Given the description of an element on the screen output the (x, y) to click on. 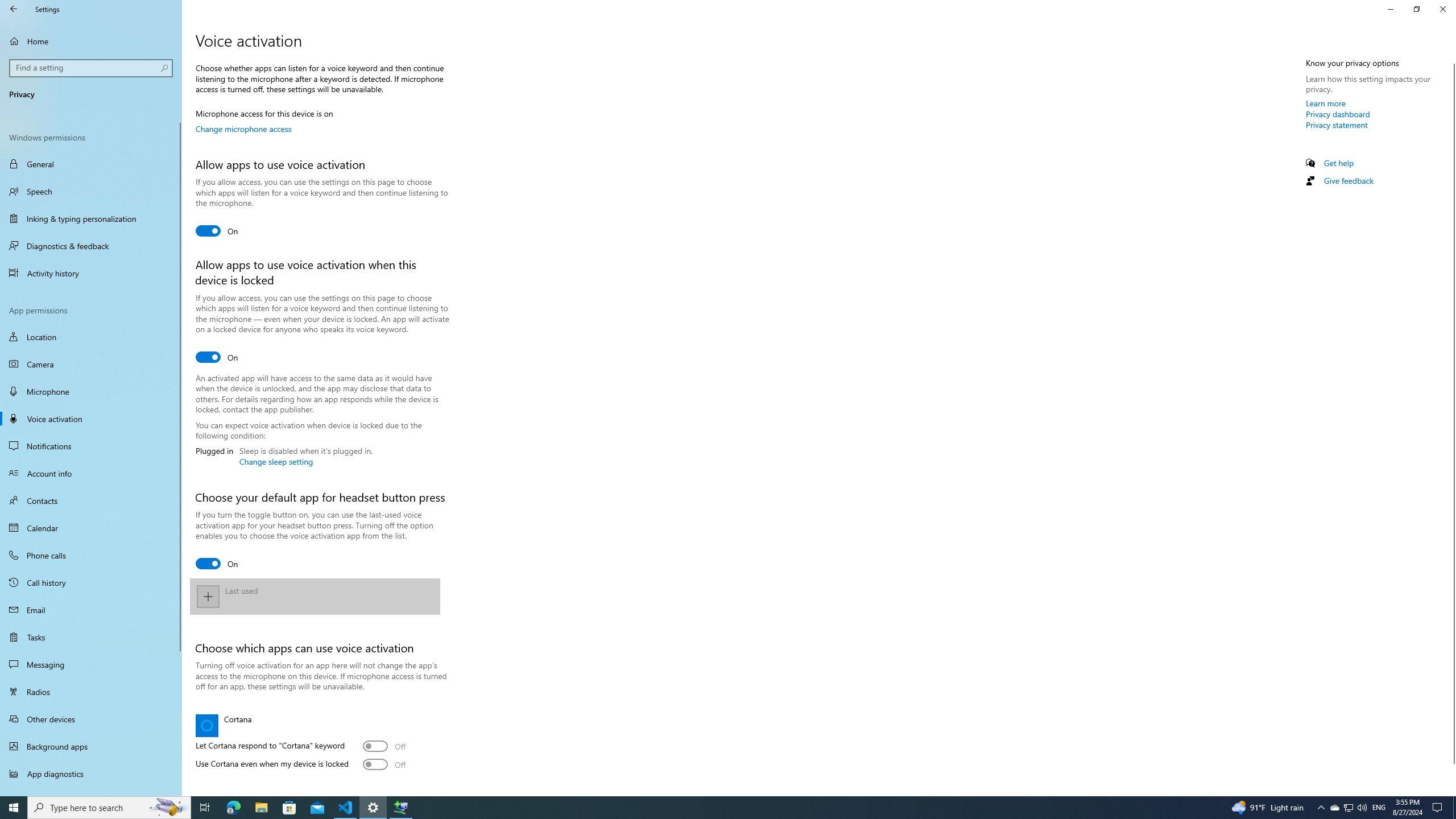
Background apps (91, 746)
Close Settings (1442, 9)
Account info (91, 472)
Restore Settings (1416, 9)
Calendar (91, 527)
Choose your default app for headset button press (216, 563)
Call history (91, 582)
Email (91, 609)
